Given the description of an element on the screen output the (x, y) to click on. 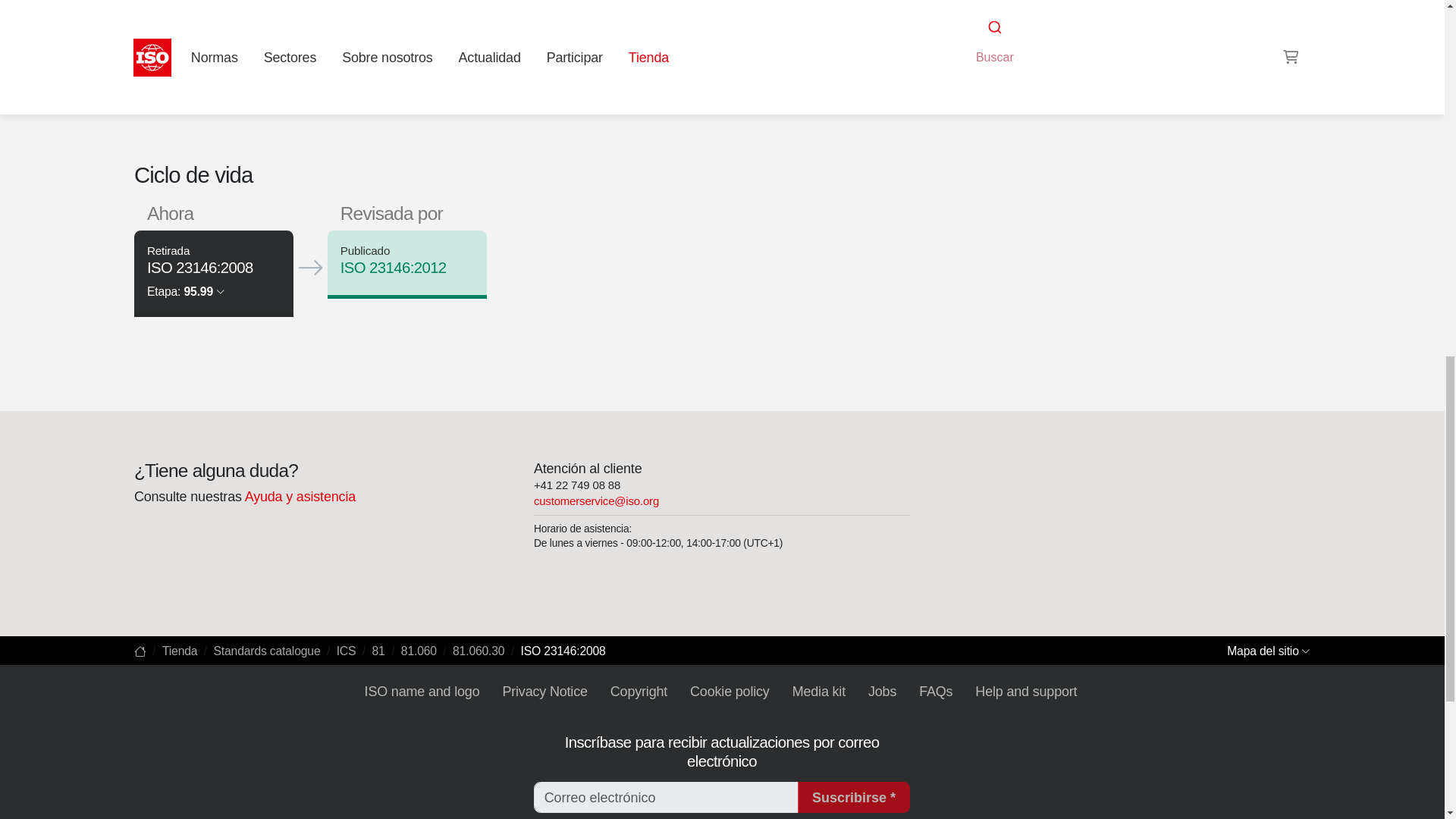
Advanced ceramics (997, 8)
81.060.30 (997, 8)
RSS (956, 38)
